Given the description of an element on the screen output the (x, y) to click on. 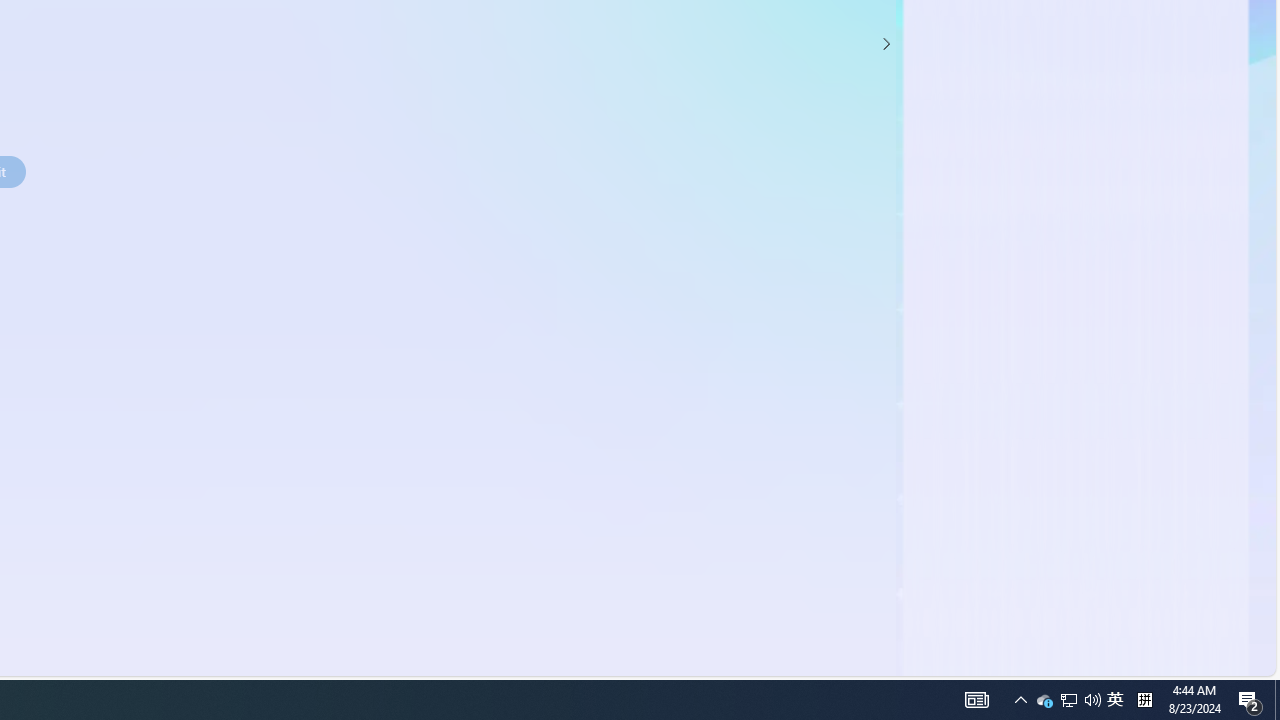
Class: control (885, 43)
